Given the description of an element on the screen output the (x, y) to click on. 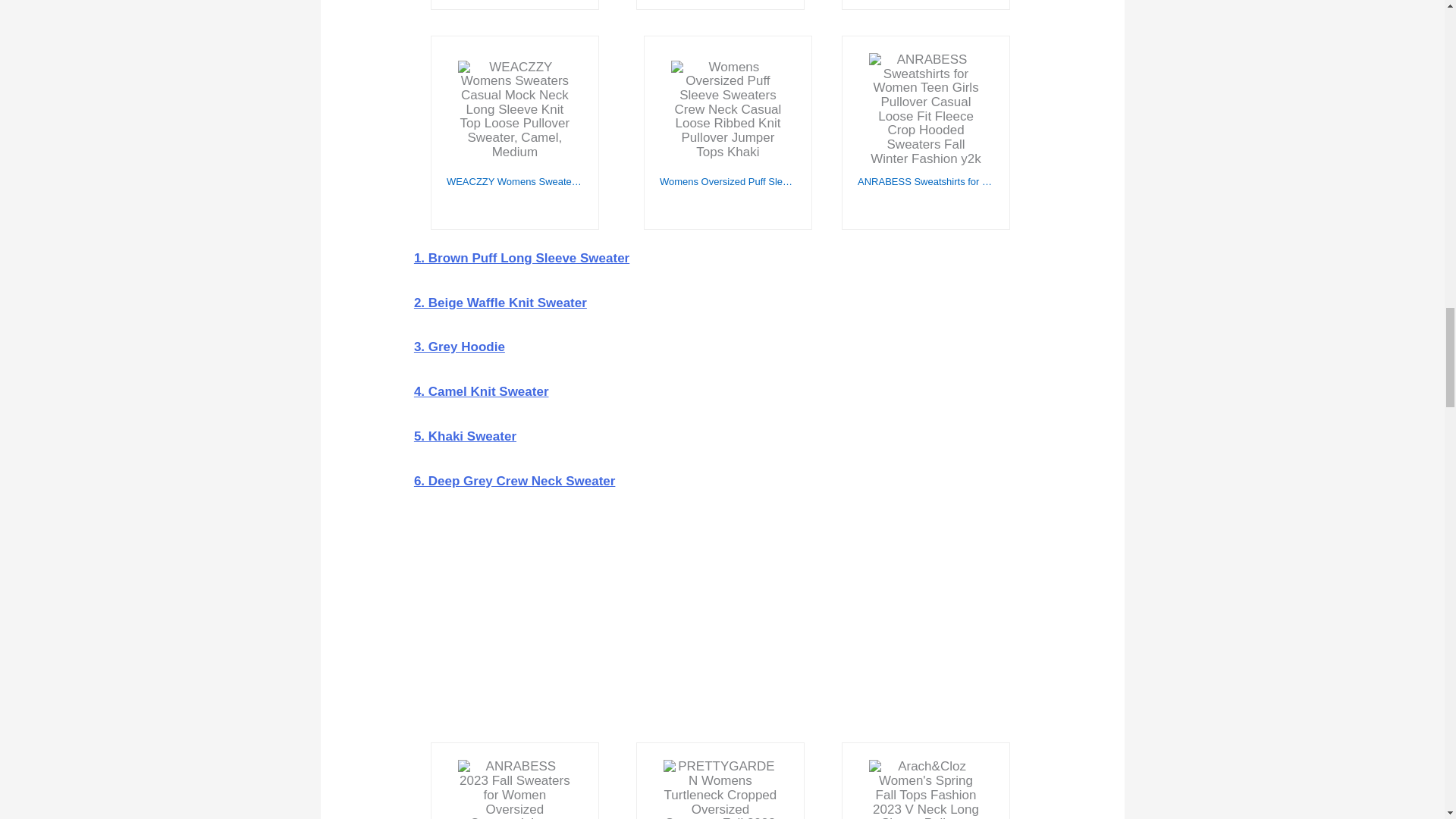
2. Beige Waffle Knit Sweater (499, 302)
5. Khaki Sweater (464, 436)
6. Deep Grey Crew Neck Sweater (514, 481)
3. Grey Hoodie (459, 346)
4. Camel Knit Sweater (480, 391)
1. Brown Puff Long Sleeve Sweater (520, 257)
